Given the description of an element on the screen output the (x, y) to click on. 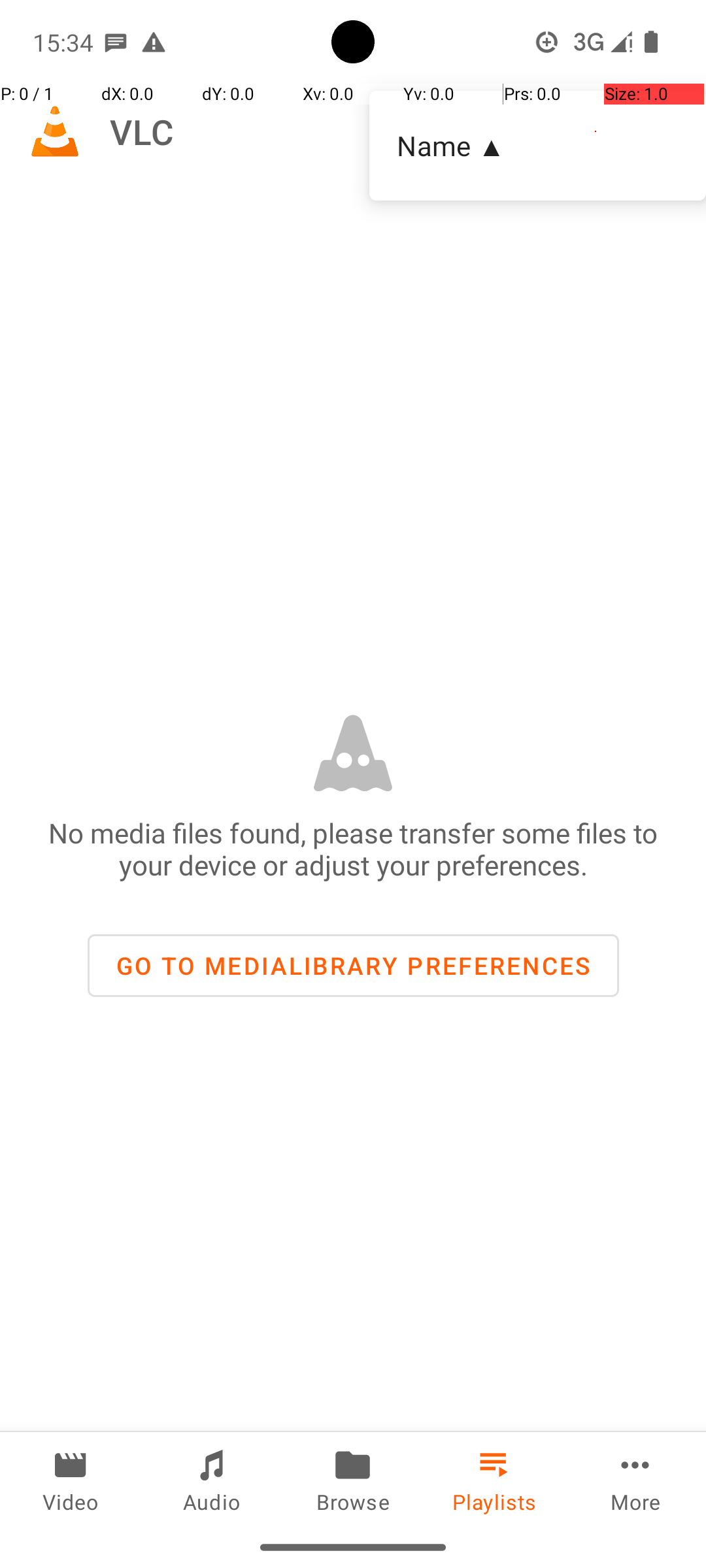
Name. Ascending Element type: android.widget.LinearLayout (537, 145)
Name ▲ Element type: android.widget.TextView (537, 145)
